Given the description of an element on the screen output the (x, y) to click on. 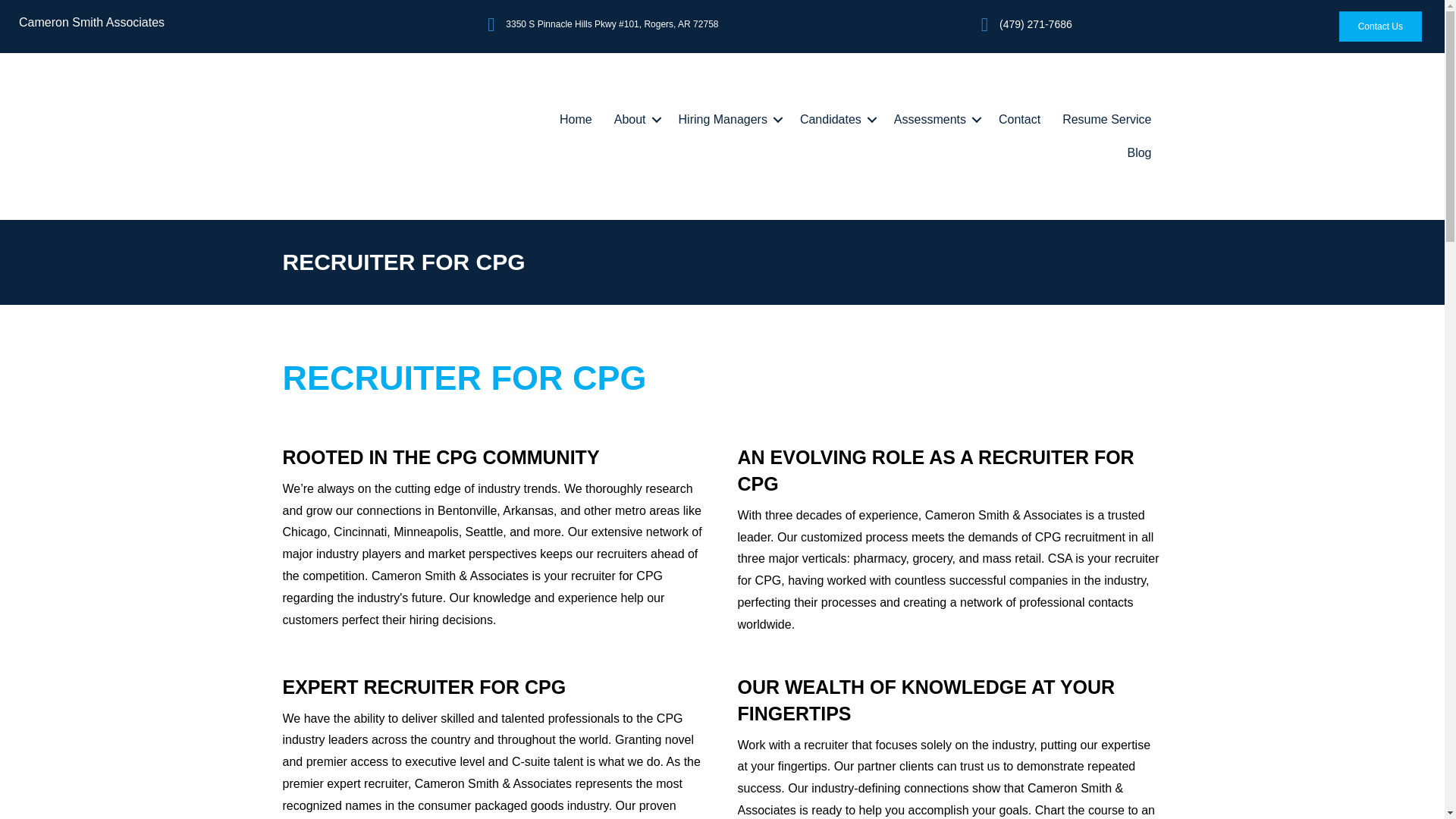
Hiring Managers (728, 119)
Cameron Smith Associates (91, 21)
Assessments (935, 119)
Contact Us (1380, 26)
Blog (1138, 152)
Home (575, 119)
About (635, 119)
Contact (1019, 119)
Resume Service (1106, 119)
Candidates (835, 119)
